Given the description of an element on the screen output the (x, y) to click on. 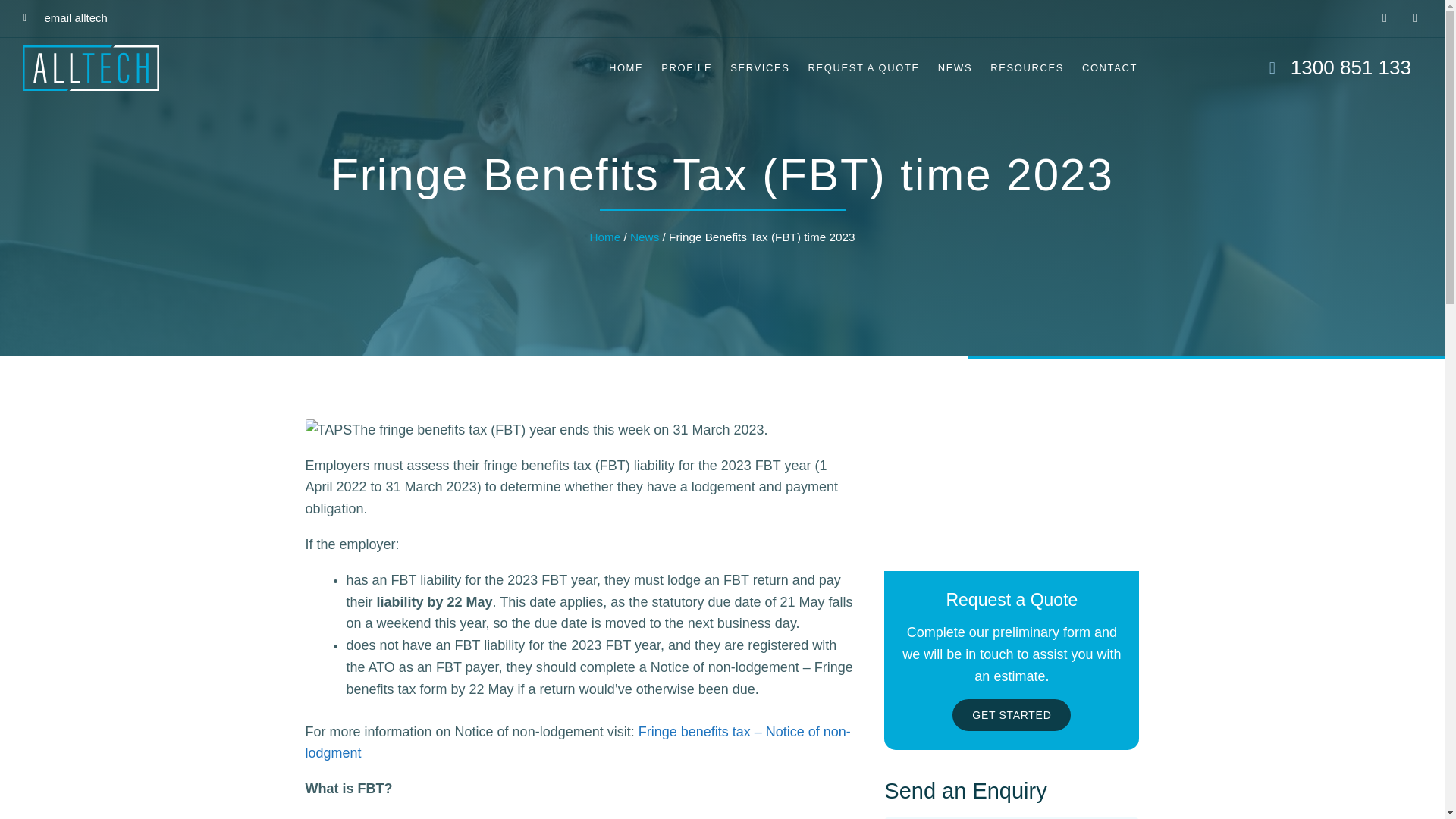
CONTACT (1110, 68)
RESOURCES (1027, 68)
HOME (625, 68)
SERVICES (758, 68)
REQUEST A QUOTE (862, 68)
NEWS (954, 68)
1300 851 133 (1282, 67)
email alltech (65, 18)
PROFILE (686, 68)
